Given the description of an element on the screen output the (x, y) to click on. 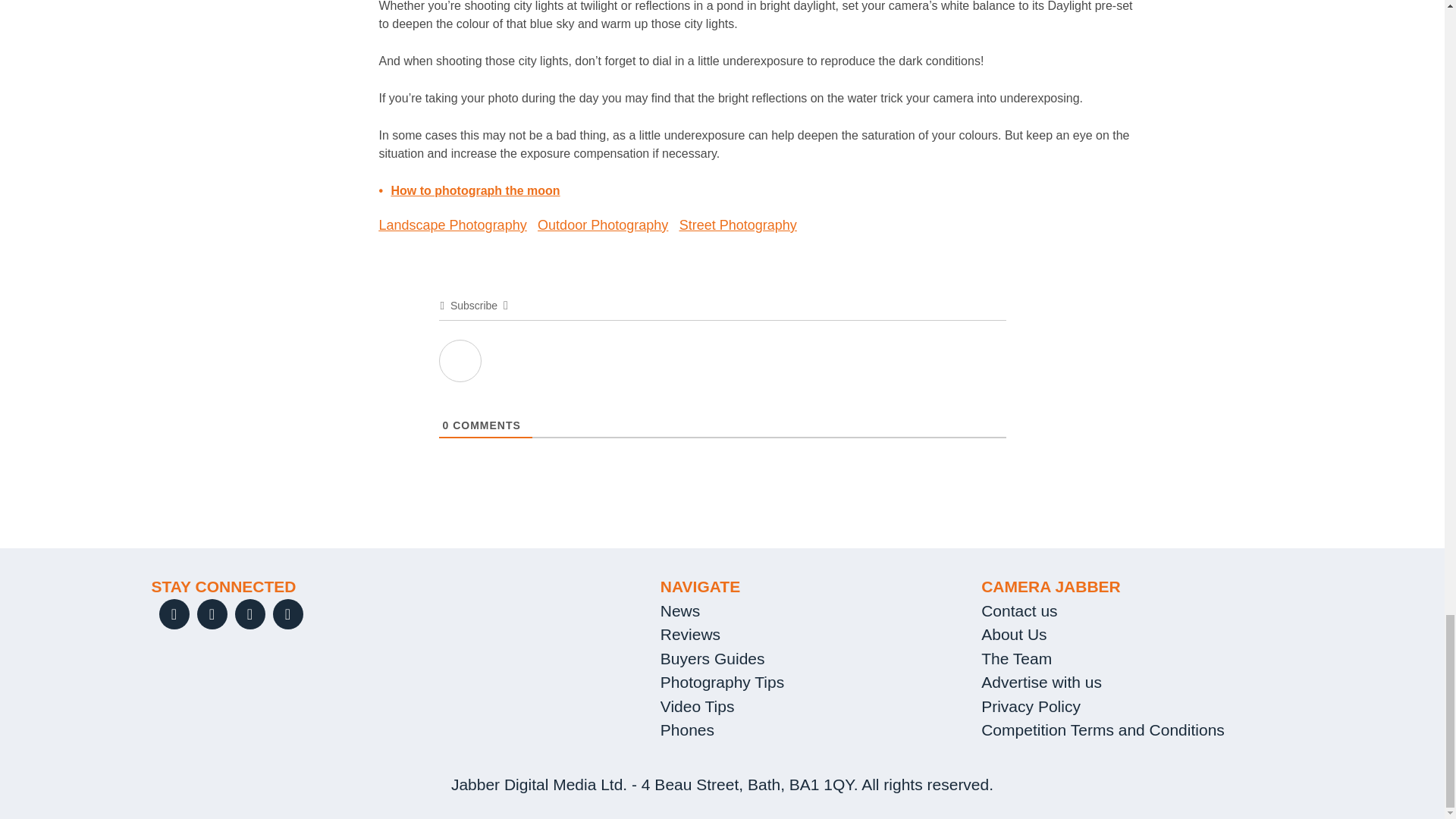
Outdoor Photography (602, 224)
Landscape Photography (452, 224)
Landscape Photography (452, 224)
Street Photography (737, 224)
Street Photography (737, 224)
Outdoor Photography (602, 224)
How to photograph the moon (475, 190)
